Given the description of an element on the screen output the (x, y) to click on. 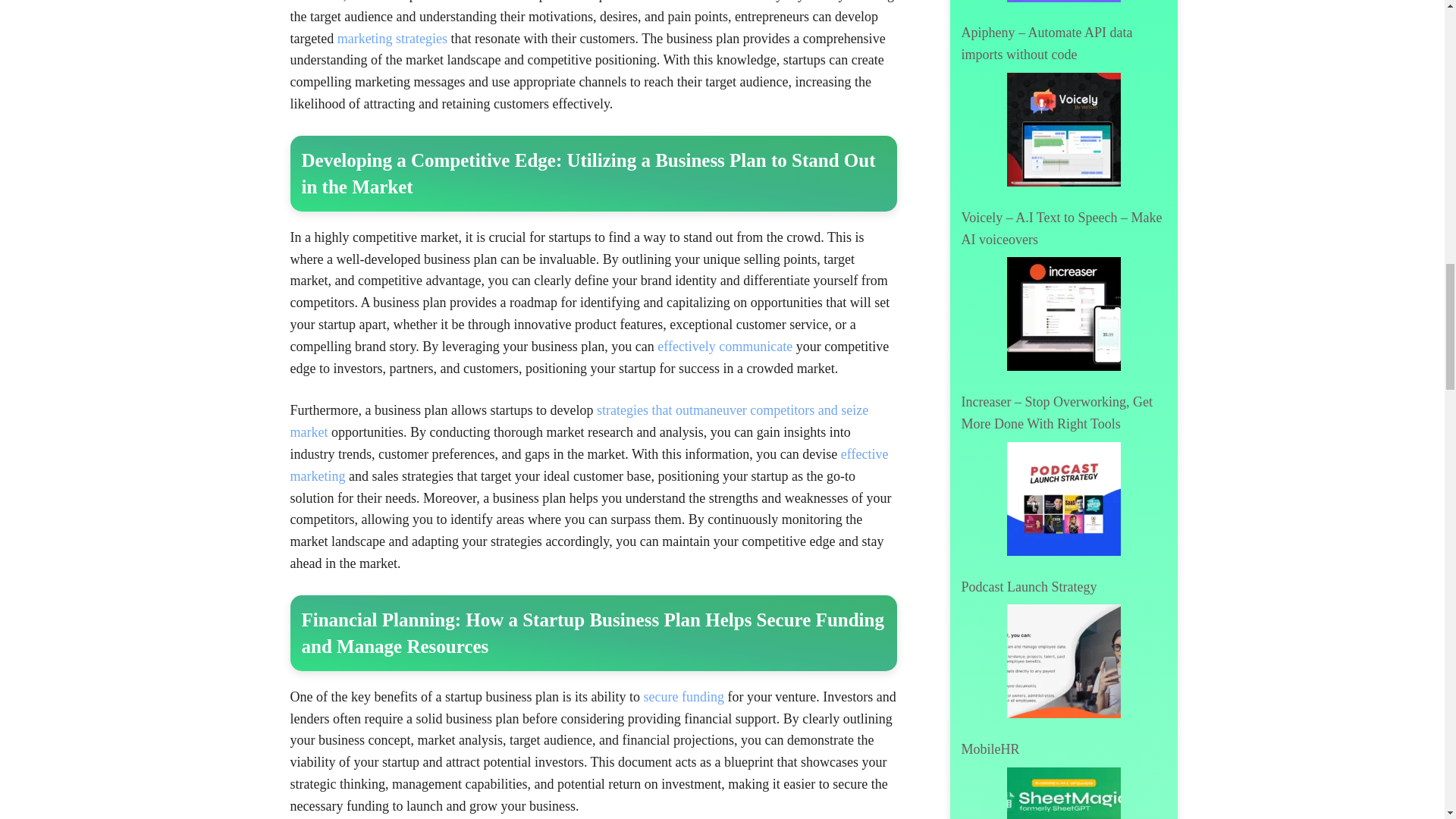
marketing strategies (391, 38)
effective marketing (588, 465)
strategies that outmaneuver competitors and seize market (578, 420)
secure funding (683, 696)
effectively communicate (725, 346)
